Given the description of an element on the screen output the (x, y) to click on. 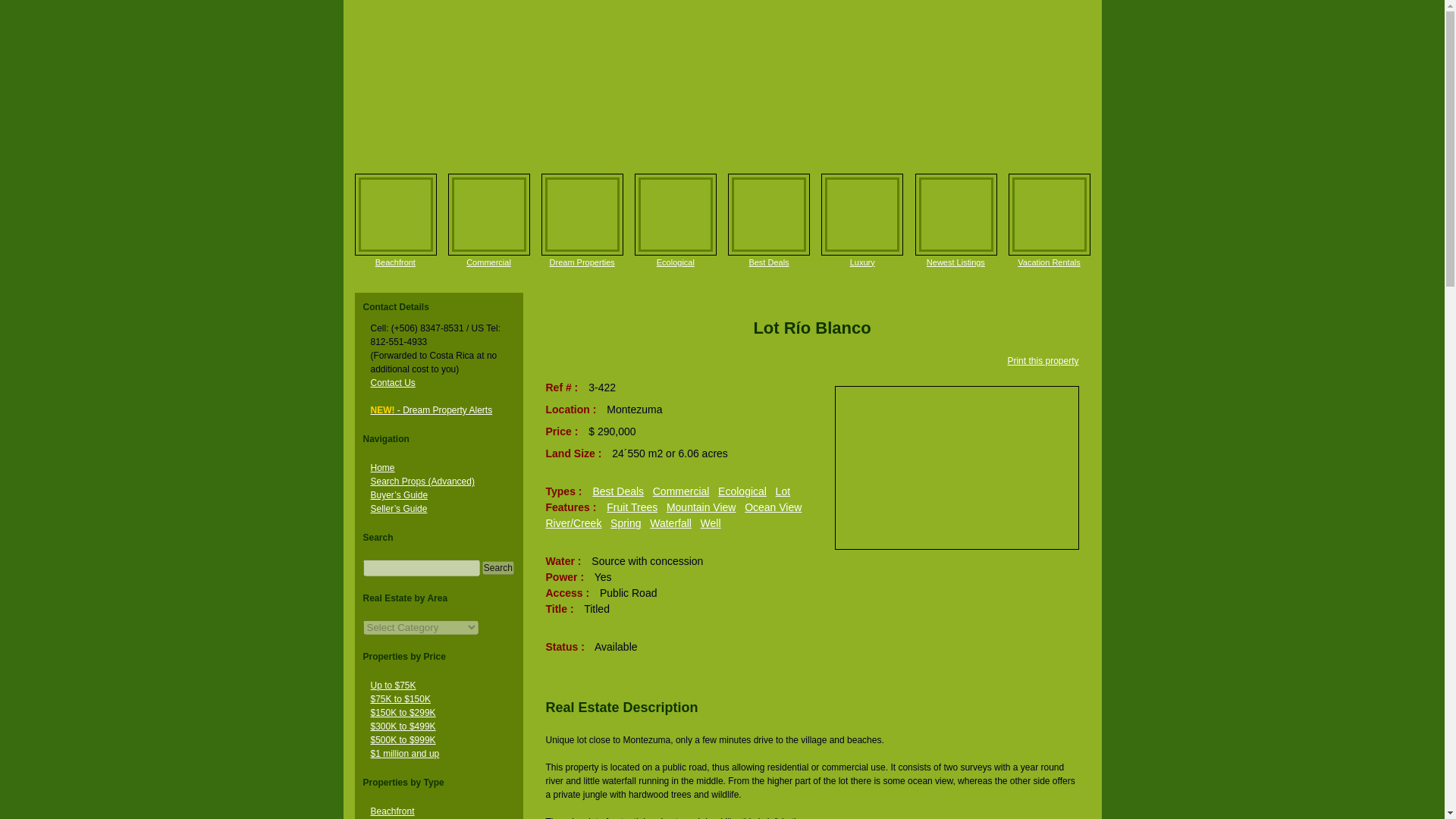
Newest Listings (955, 261)
Tropisphere Costa Rica Real Estate (721, 83)
Dream Properties (582, 261)
Commercial (488, 214)
Best Deals (768, 261)
Beachfront (394, 261)
Luxury (861, 214)
Commercial (488, 261)
Vacation Rentals (1048, 261)
Search (497, 567)
